Given the description of an element on the screen output the (x, y) to click on. 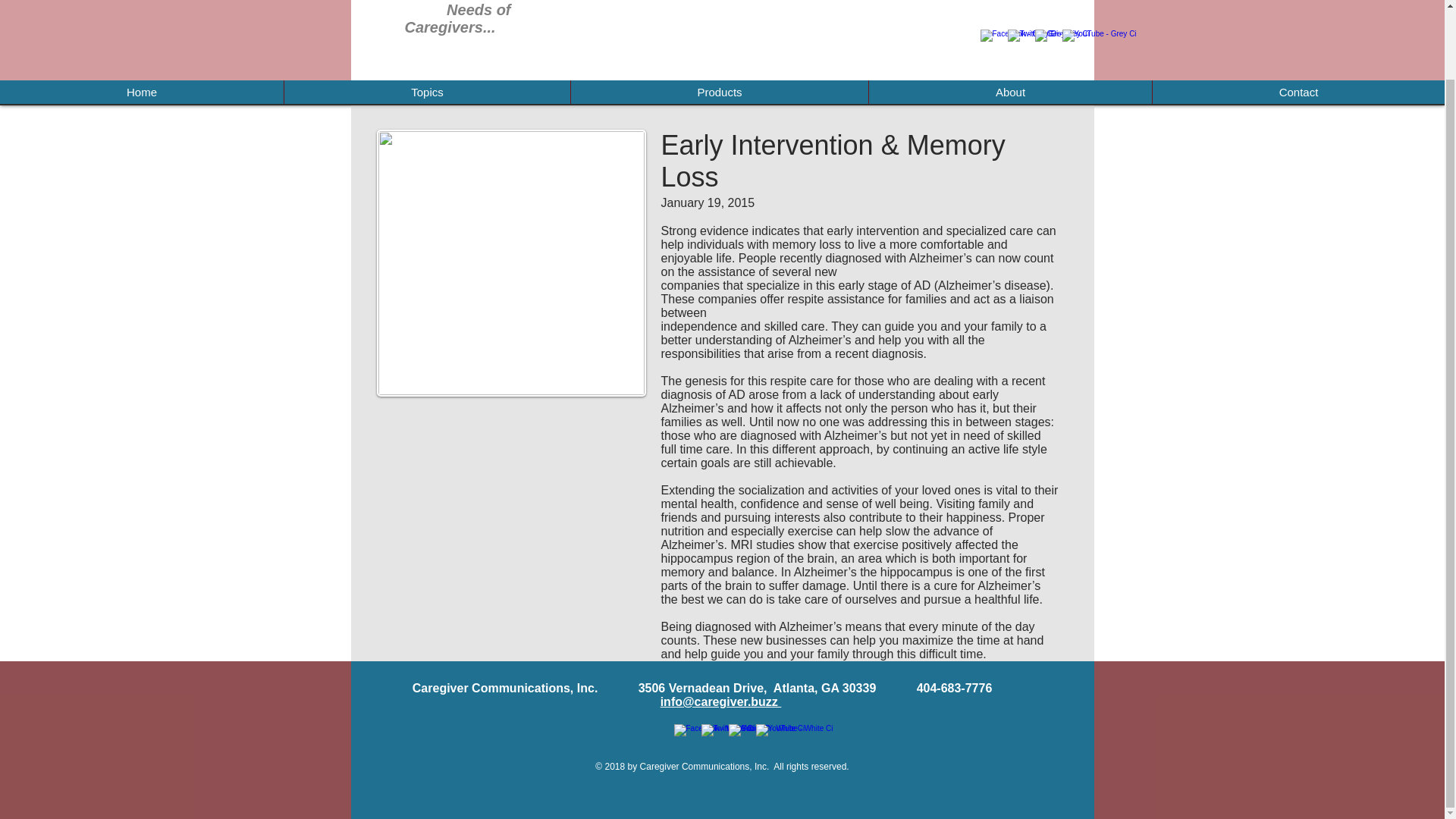
About (1009, 92)
Products (718, 92)
Topics (426, 92)
Home (141, 92)
